Given the description of an element on the screen output the (x, y) to click on. 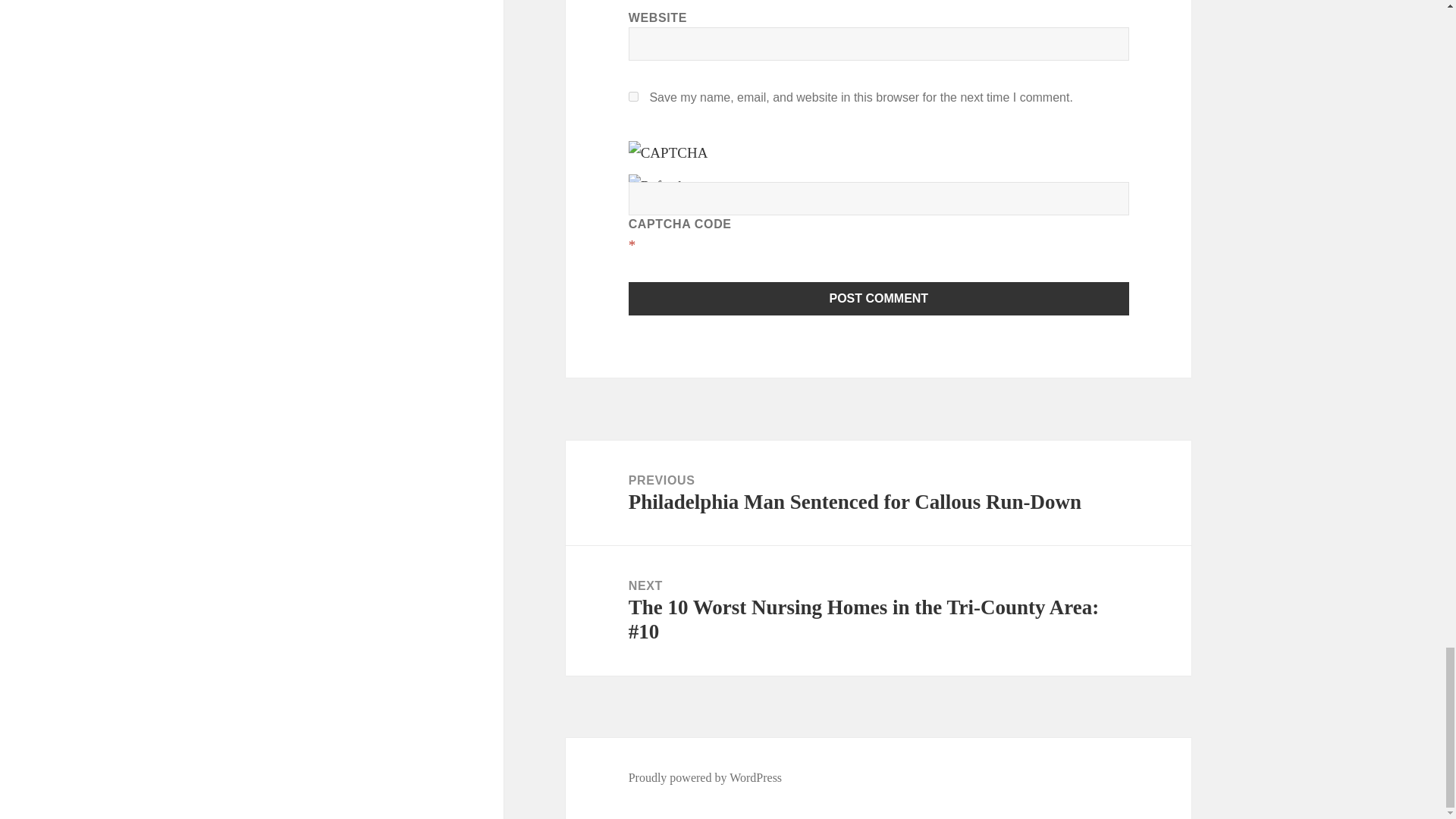
yes (633, 96)
Refresh (656, 186)
Post Comment (878, 297)
CAPTCHA (678, 156)
